Given the description of an element on the screen output the (x, y) to click on. 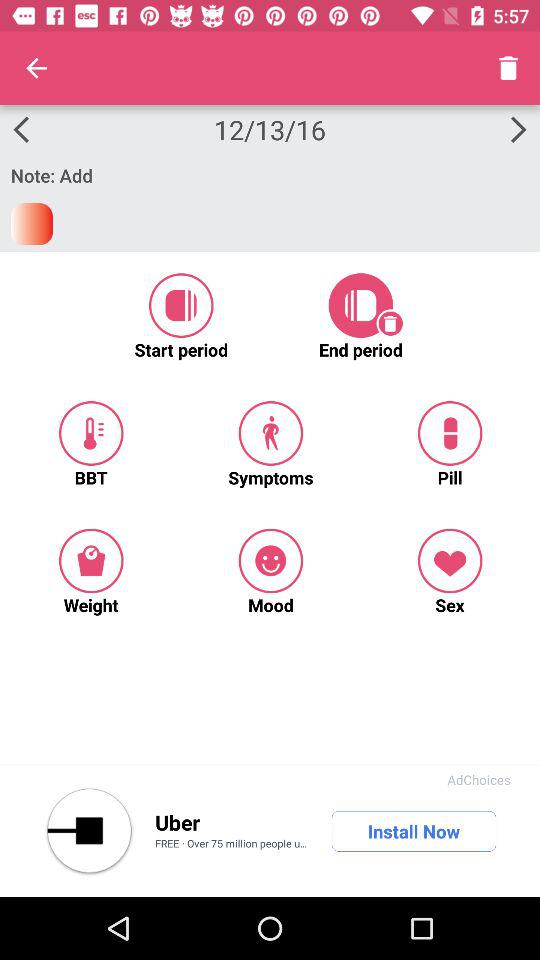
go back (89, 831)
